Given the description of an element on the screen output the (x, y) to click on. 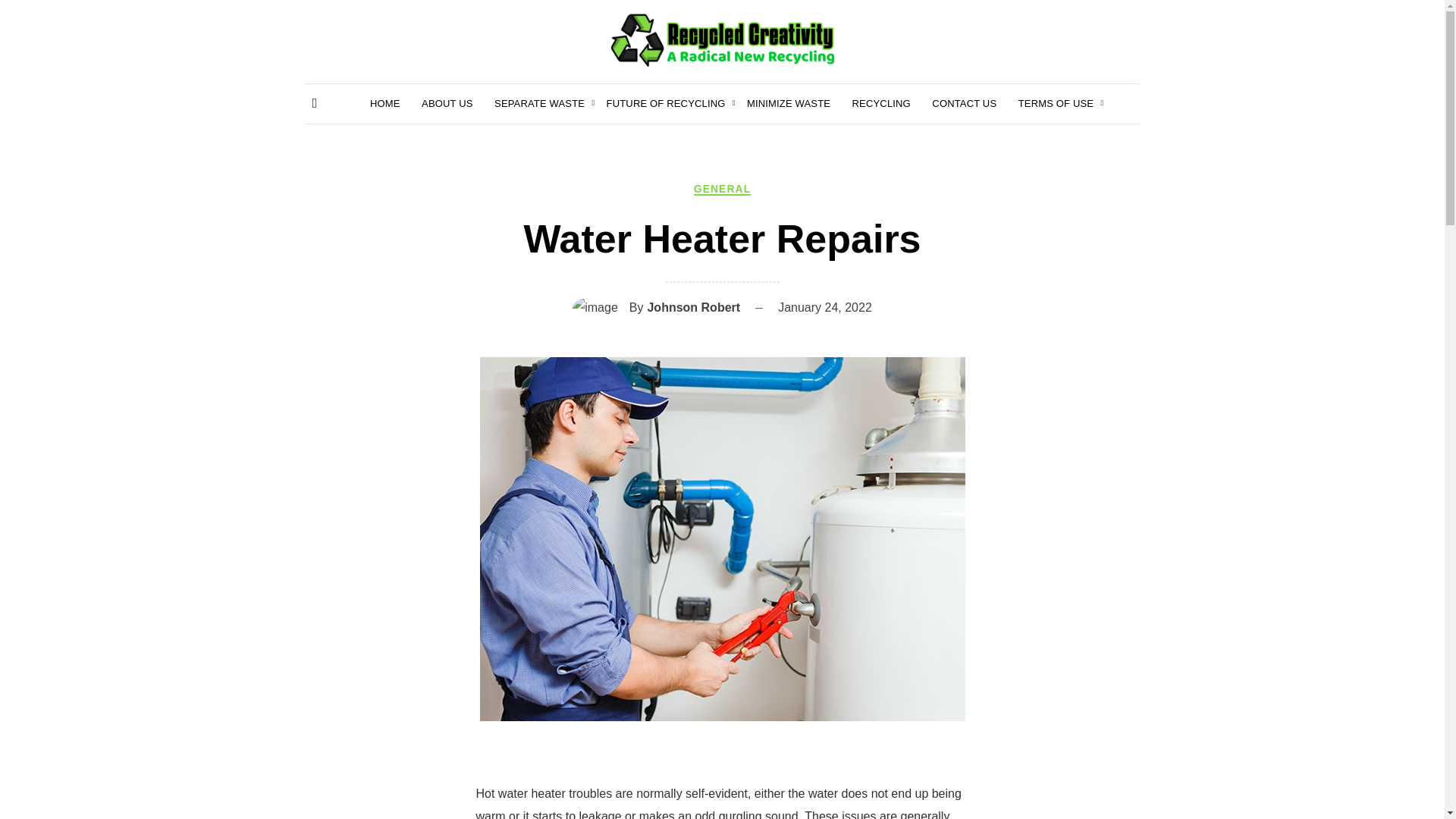
GENERAL (722, 188)
Logo (721, 38)
SEPARATE WASTE (540, 103)
CONTACT US (963, 103)
TERMS OF USE (1055, 103)
Johnson Robert (692, 306)
MINIMIZE WASTE (787, 103)
ABOUT US (447, 103)
RECYCLING (881, 103)
FUTURE OF RECYCLING (666, 103)
